Given the description of an element on the screen output the (x, y) to click on. 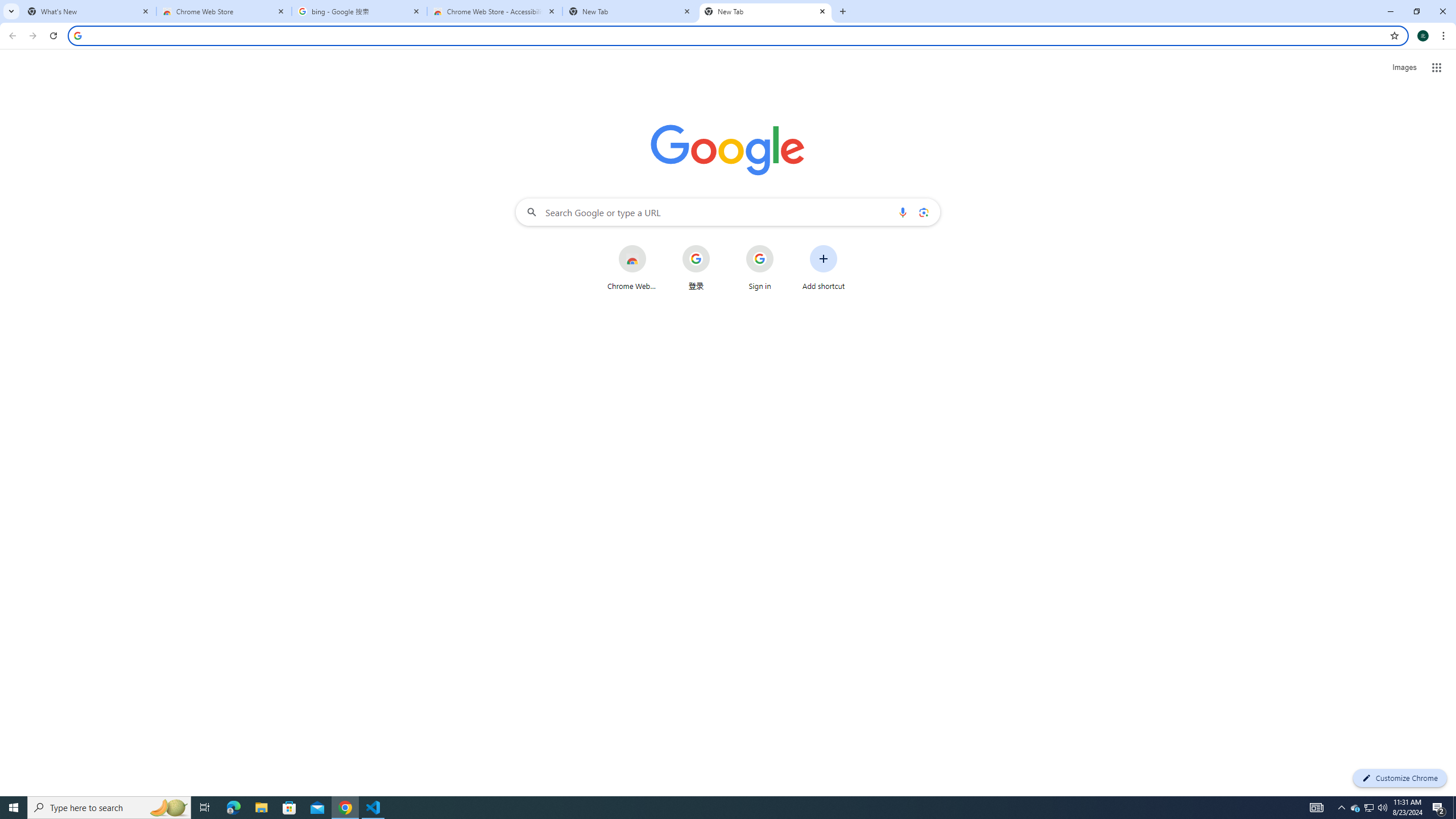
New Tab (765, 11)
More actions for Chrome Web Store shortcut (654, 245)
Chrome Web Store (631, 267)
Search Google or type a URL (727, 212)
Add shortcut (824, 267)
